Given the description of an element on the screen output the (x, y) to click on. 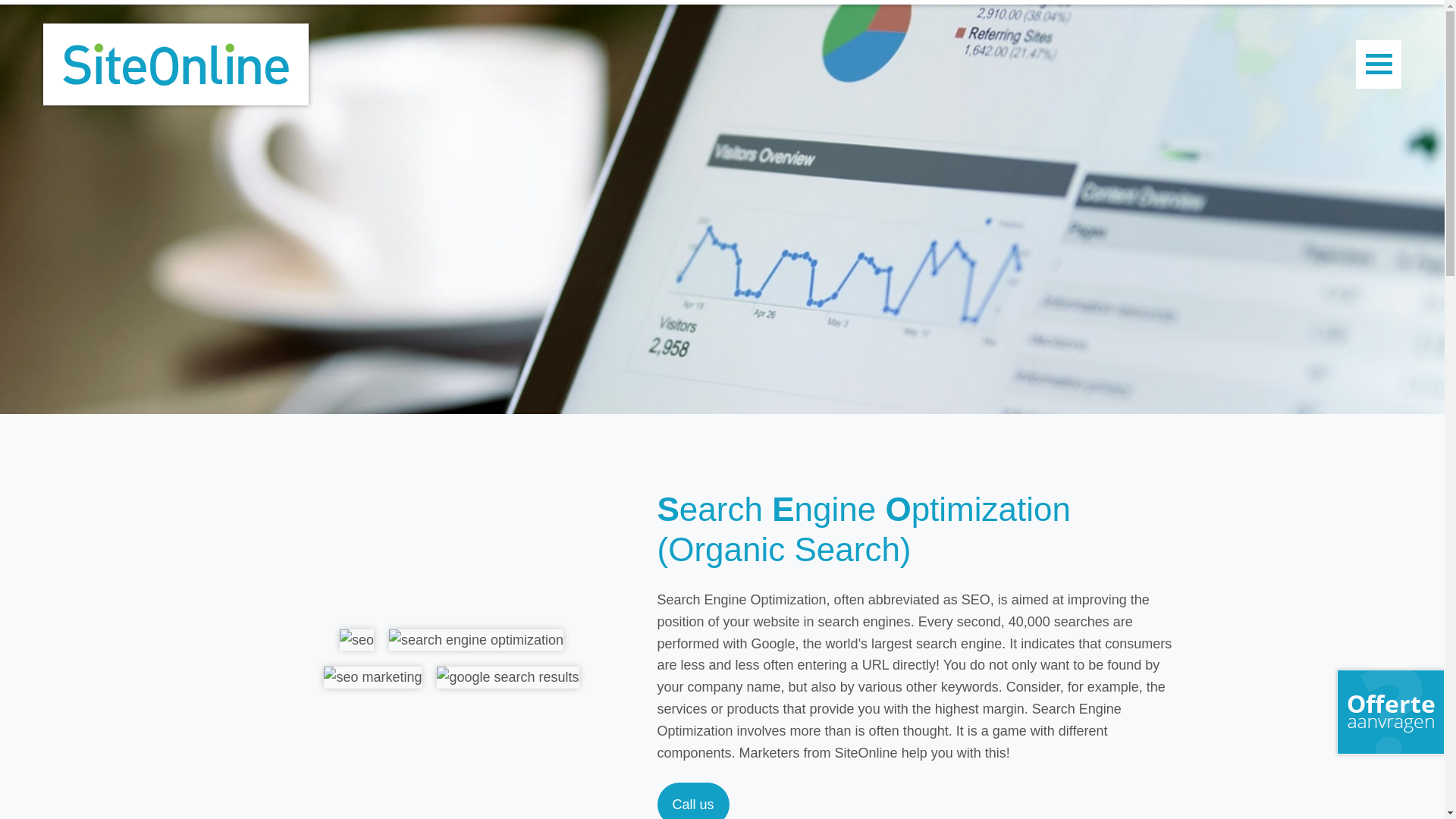
Call us (692, 800)
English (1423, 18)
Nederlands (1401, 18)
